Given the description of an element on the screen output the (x, y) to click on. 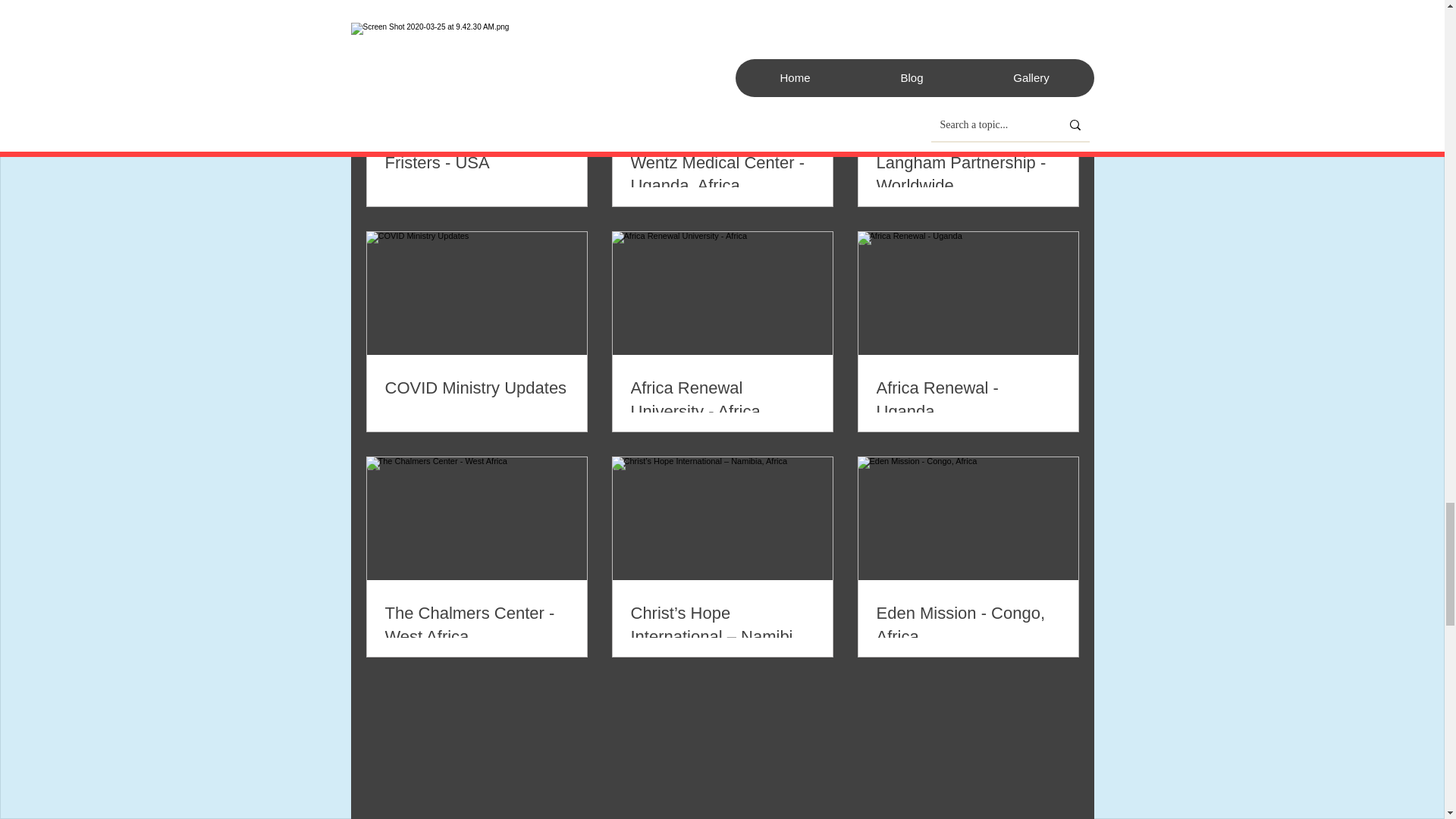
Wentz Medical Center - Uganda, Africa (721, 175)
Africa Renewal University - Africa (721, 400)
Langham Partnership - Worldwide (967, 175)
The Chalmers Center - West Africa (477, 625)
COVID Ministry Updates (477, 388)
Eden Mission - Congo, Africa (967, 625)
Africa Renewal - Uganda (967, 400)
Fristers - USA (477, 163)
